Given the description of an element on the screen output the (x, y) to click on. 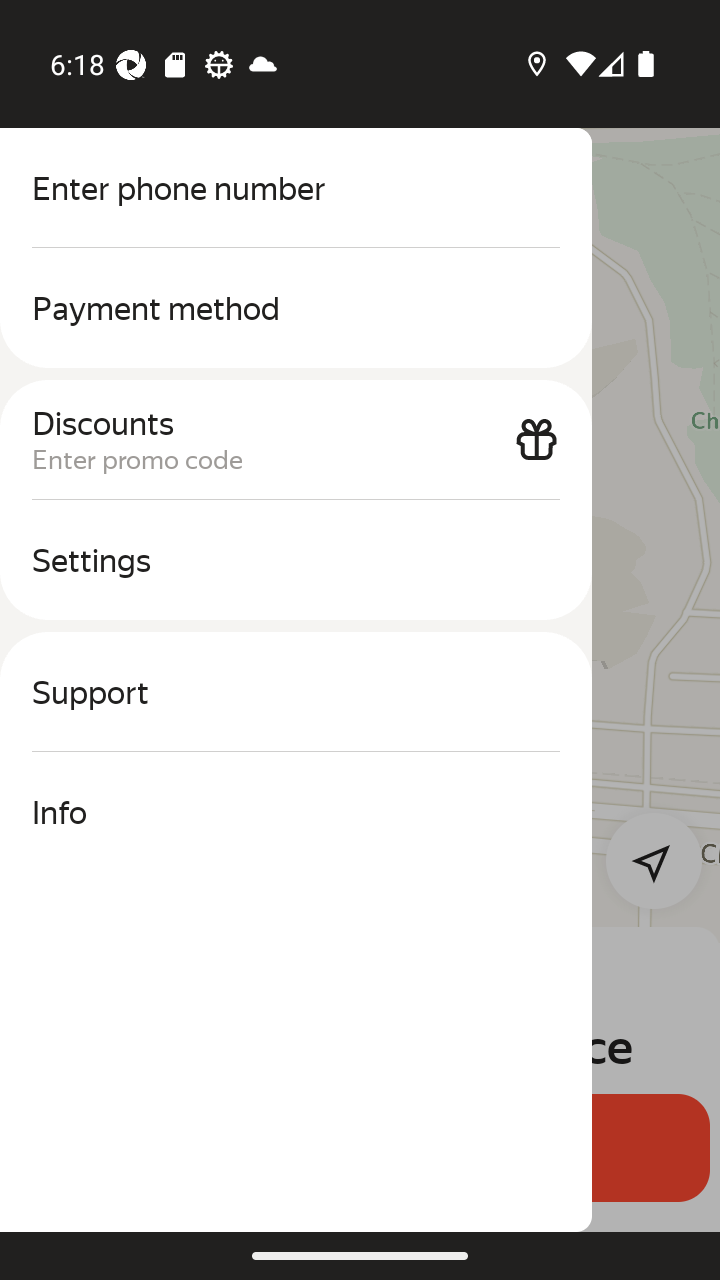
Enter phone number (295, 188)
Payment method (295, 308)
Settings (295, 559)
Support (295, 692)
Info (295, 811)
